Given the description of an element on the screen output the (x, y) to click on. 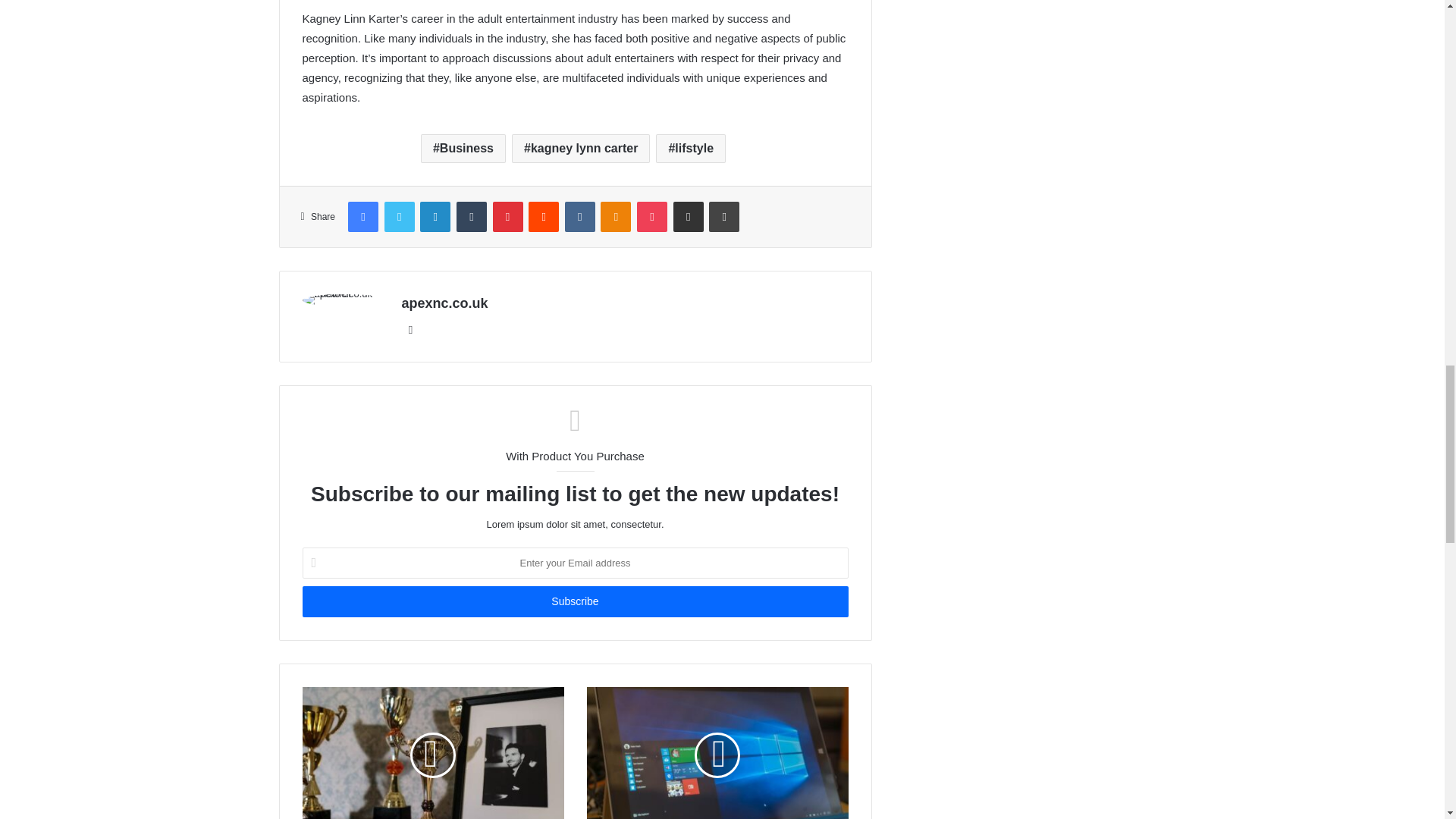
lifstyle (690, 148)
kagney lynn carter (580, 148)
Business (462, 148)
Subscribe (574, 601)
